Given the description of an element on the screen output the (x, y) to click on. 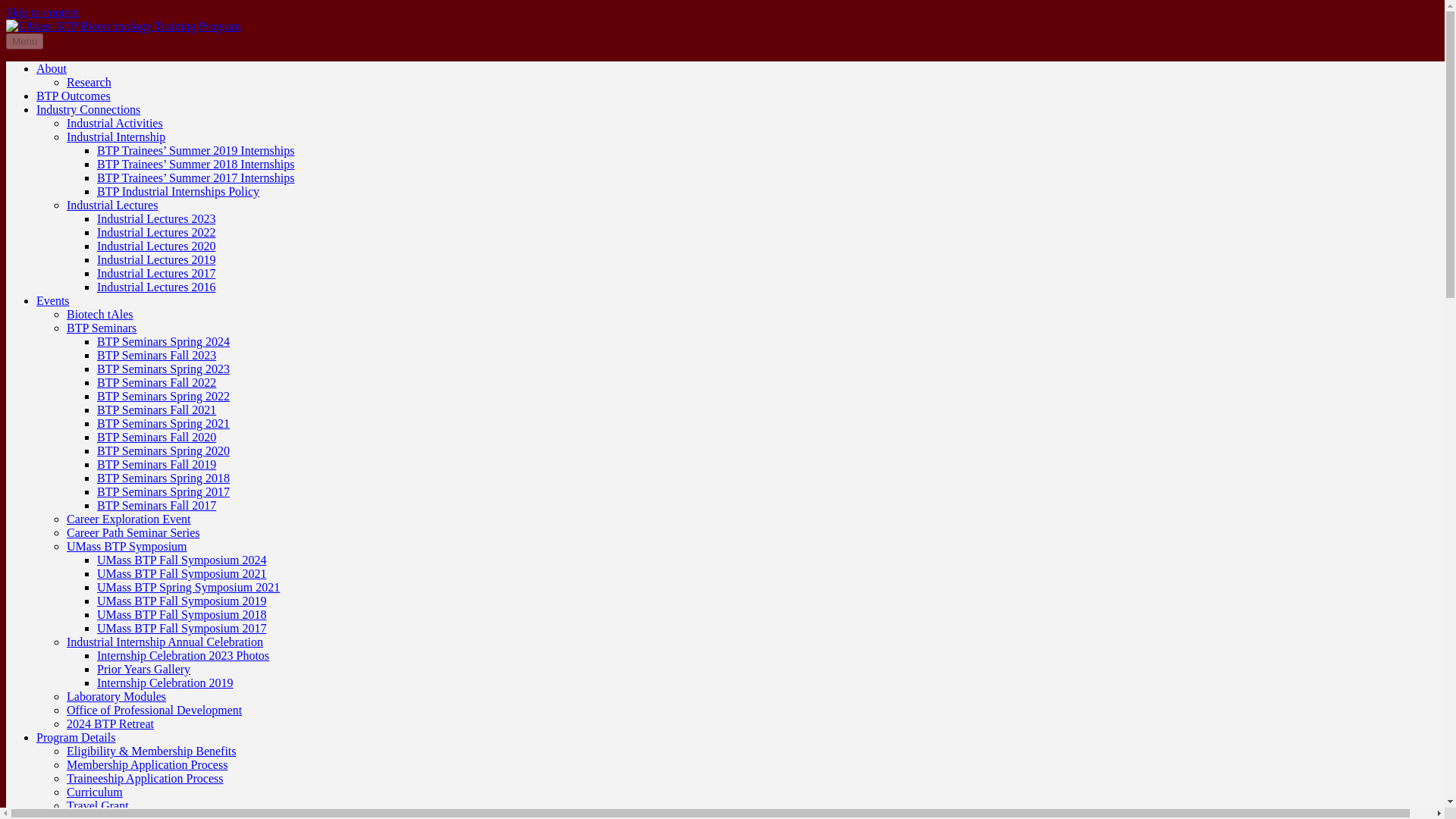
Industrial Lectures 2017 (156, 273)
BTP Seminars Fall 2022 (156, 382)
Industrial Lectures (111, 205)
BTP Outcomes (73, 95)
BTP Seminars Spring 2022 (163, 395)
Industry Connections (87, 109)
UMass BTP Biotechnology Training Program (123, 25)
BTP Seminars Spring 2021 (163, 422)
Industrial Lectures 2022 (156, 232)
About (51, 68)
